Given the description of an element on the screen output the (x, y) to click on. 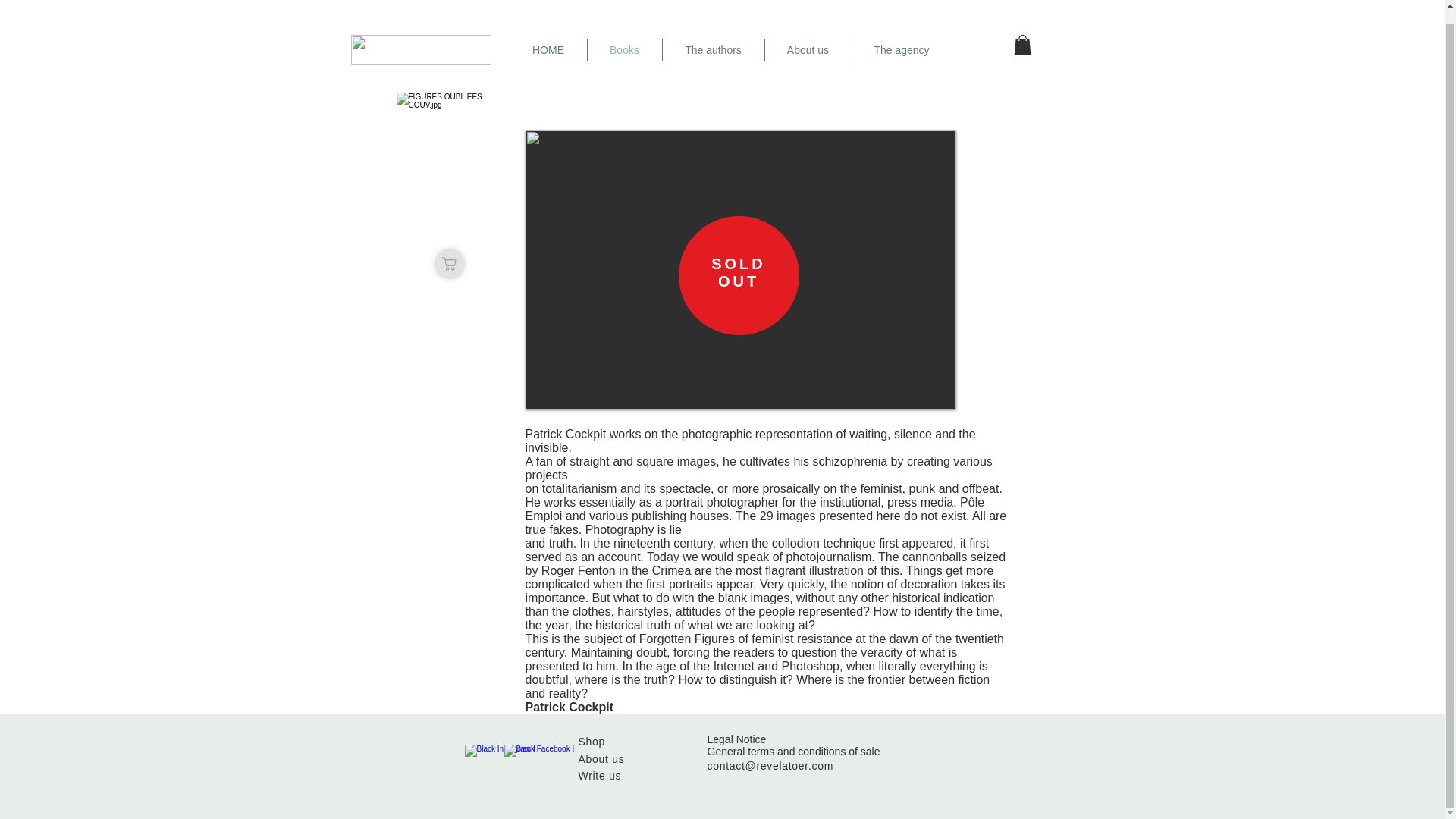
General terms and conditions of sale (792, 751)
Write us (599, 775)
The authors (713, 50)
About us (807, 50)
Shop (591, 741)
Patrick Cockpit (568, 707)
About us (601, 758)
HOME (547, 50)
Books (623, 50)
The agency (901, 50)
Legal Notice (735, 739)
